Given the description of an element on the screen output the (x, y) to click on. 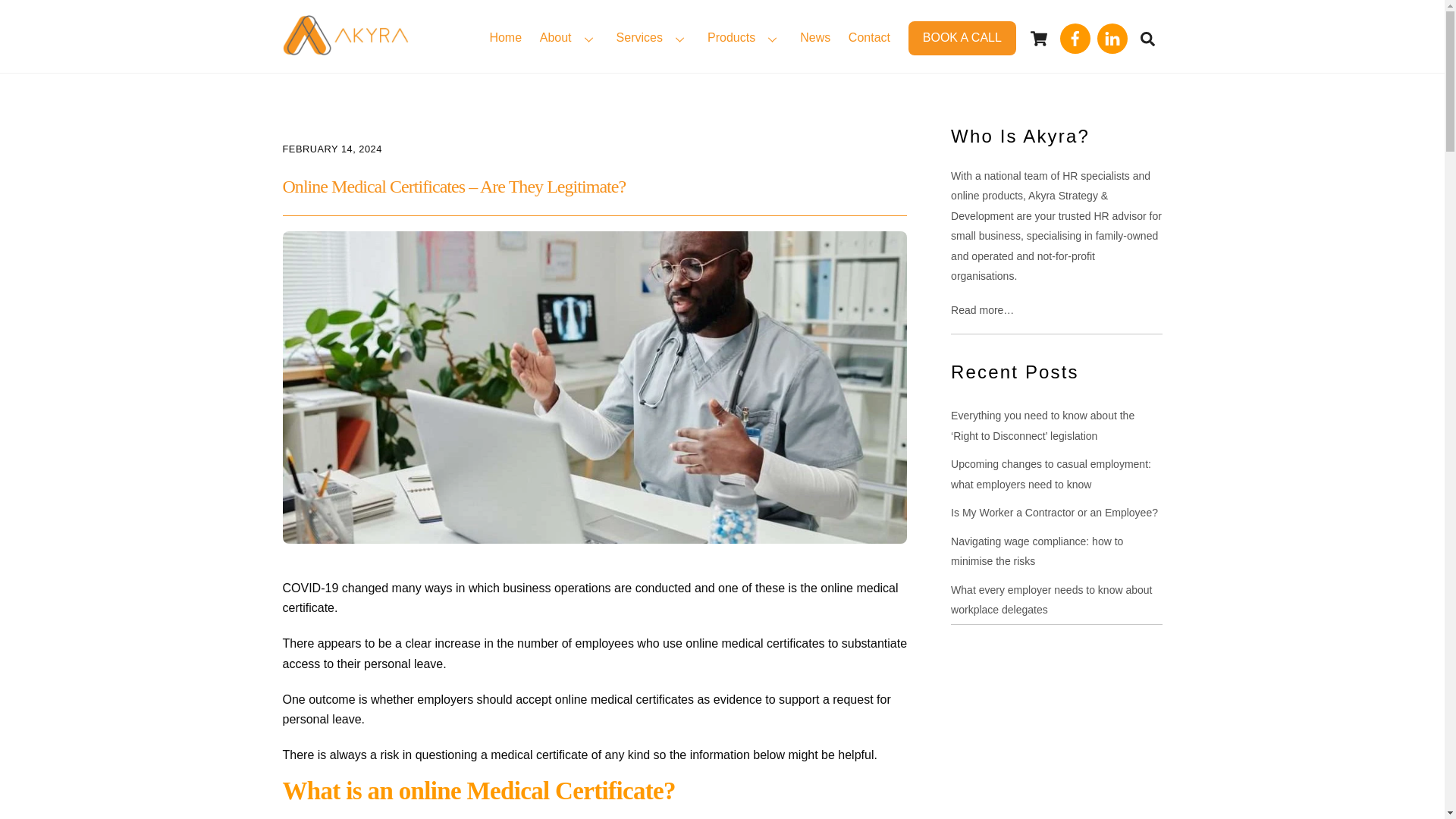
Akyra (344, 47)
About (568, 38)
Home (505, 38)
Products (744, 38)
Services (652, 38)
Search (1146, 37)
Cart (1038, 38)
